Given the description of an element on the screen output the (x, y) to click on. 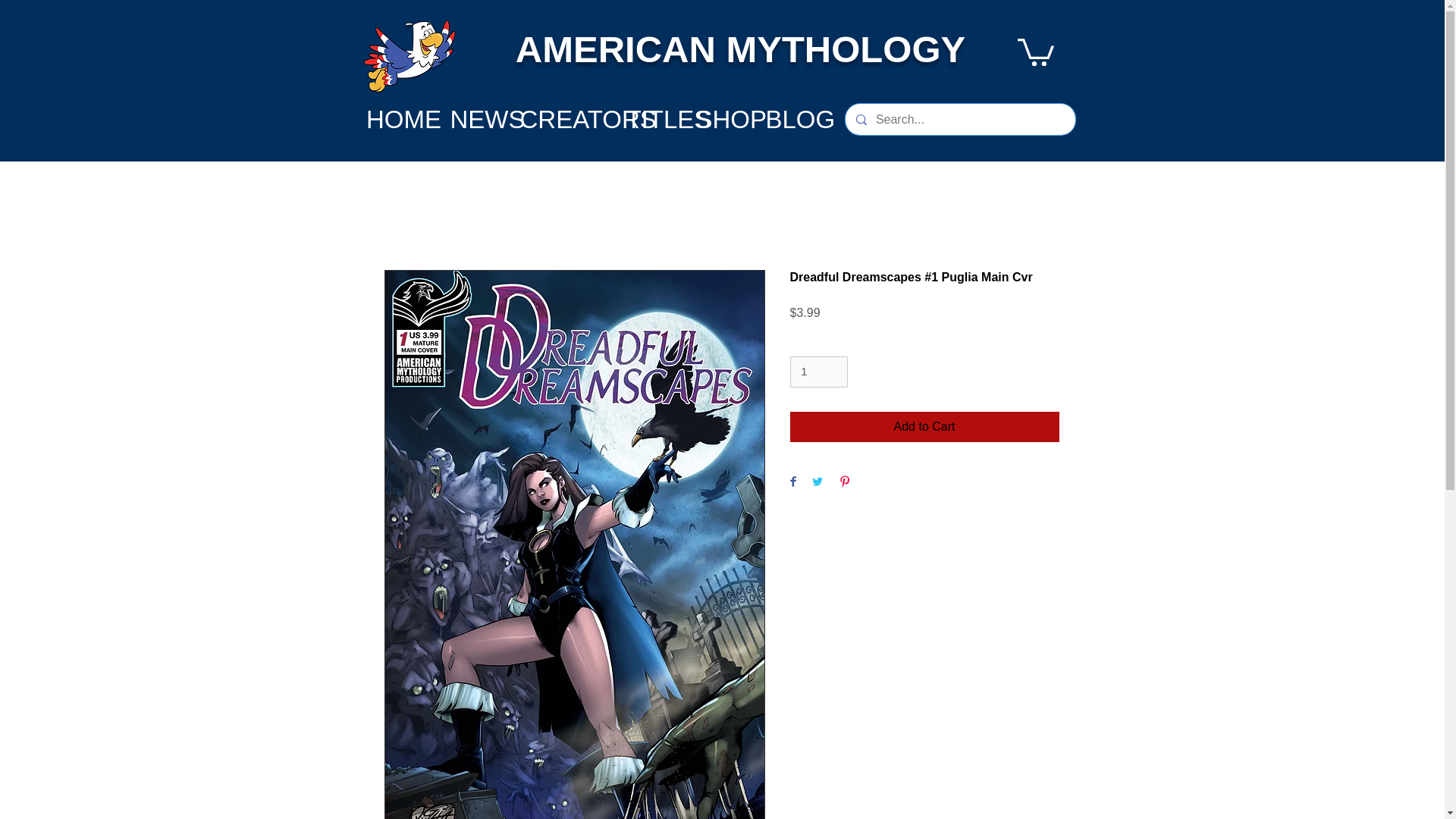
TITLES (668, 119)
CREATORS (587, 119)
1 (818, 371)
BLOG (800, 119)
NEWS (487, 119)
SHOP (731, 119)
Add to Cart (924, 426)
HOME (403, 119)
